Given the description of an element on the screen output the (x, y) to click on. 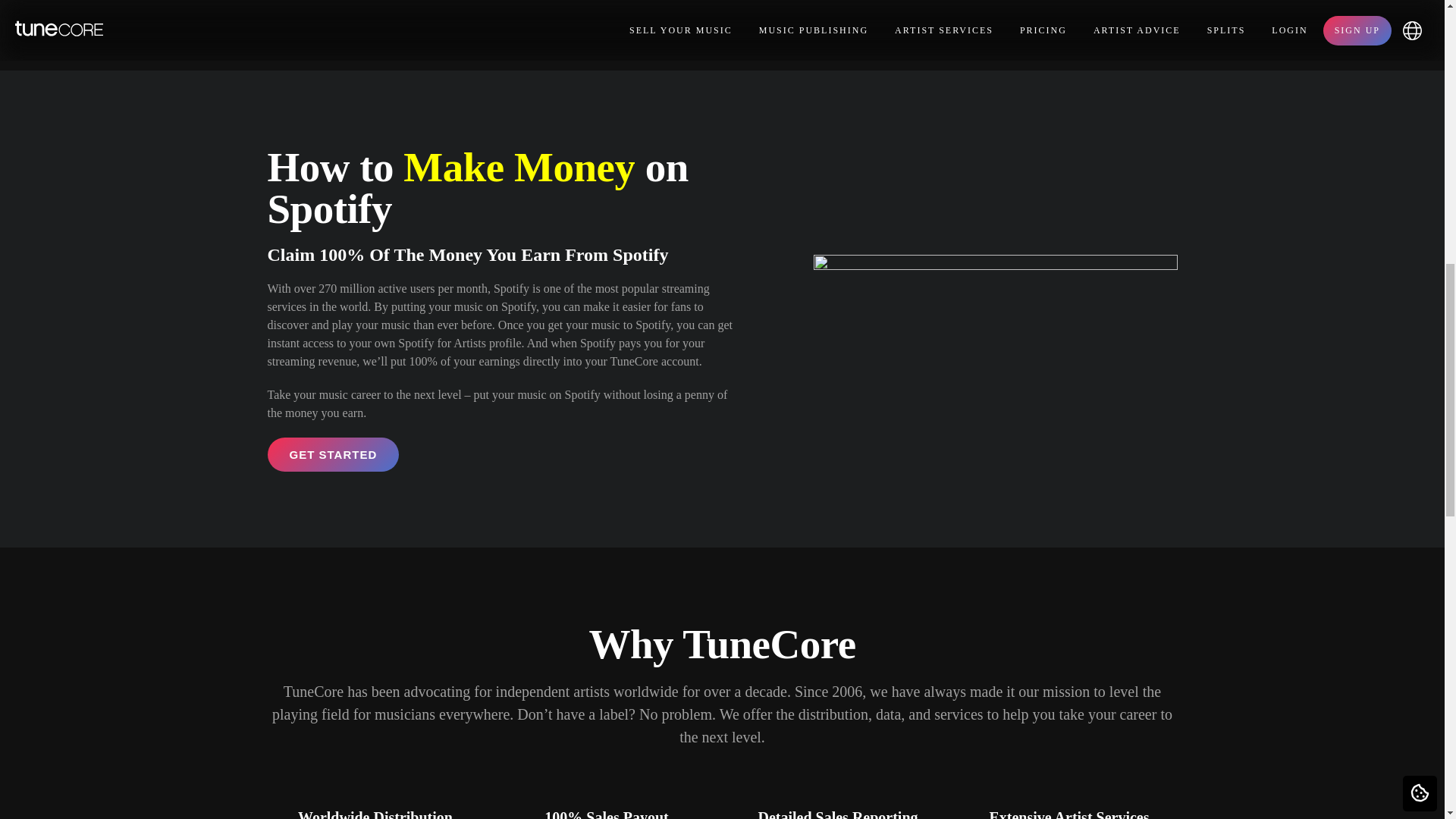
GET STARTED (332, 454)
